Given the description of an element on the screen output the (x, y) to click on. 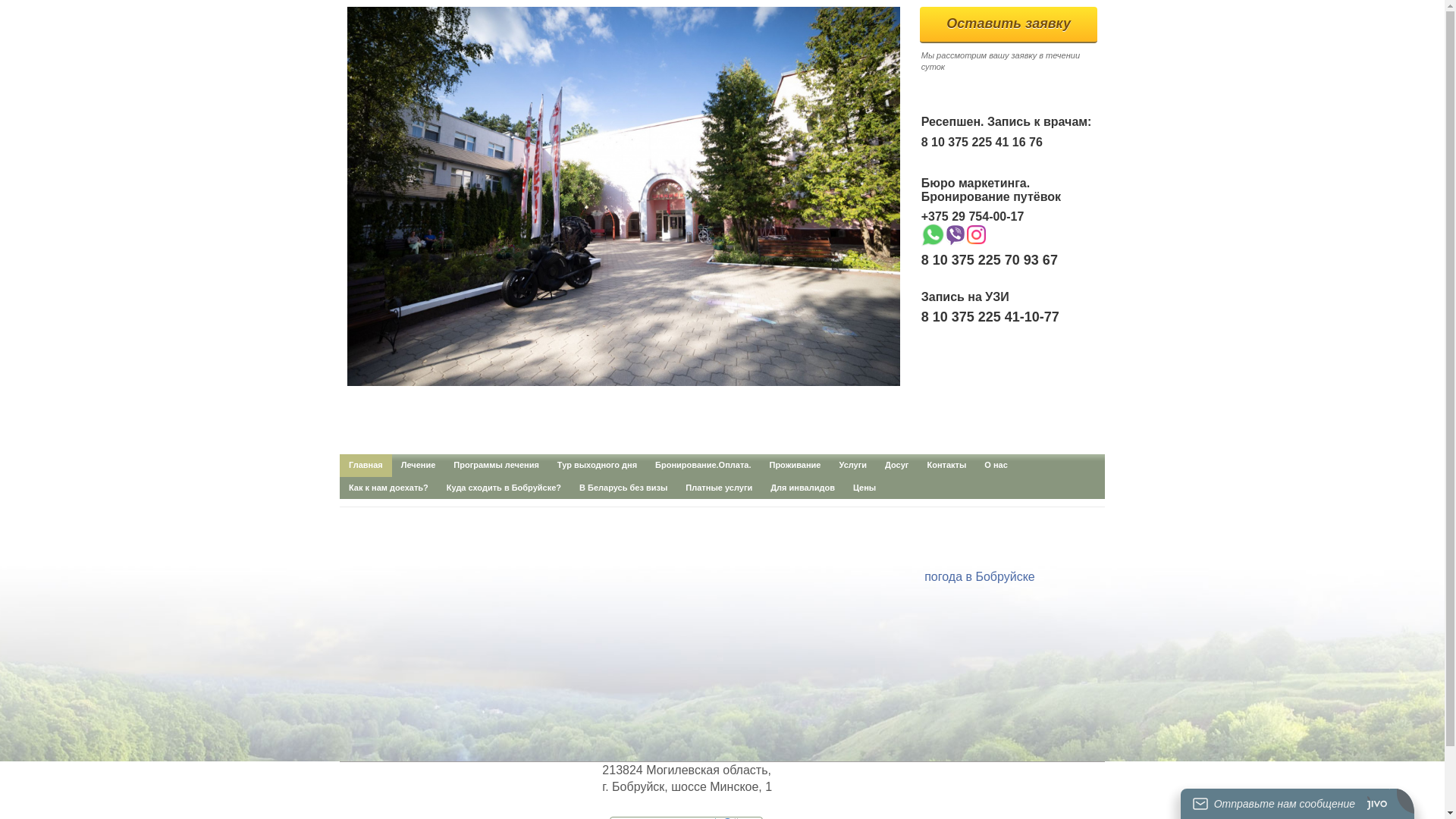
whatsapp Element type: hover (932, 234)
Instagram_icon-icons.com_66804.png Element type: hover (975, 234)
sanatoriy-shinnik-18917.jpg Element type: hover (623, 195)
viber.png Element type: hover (955, 234)
